Given the description of an element on the screen output the (x, y) to click on. 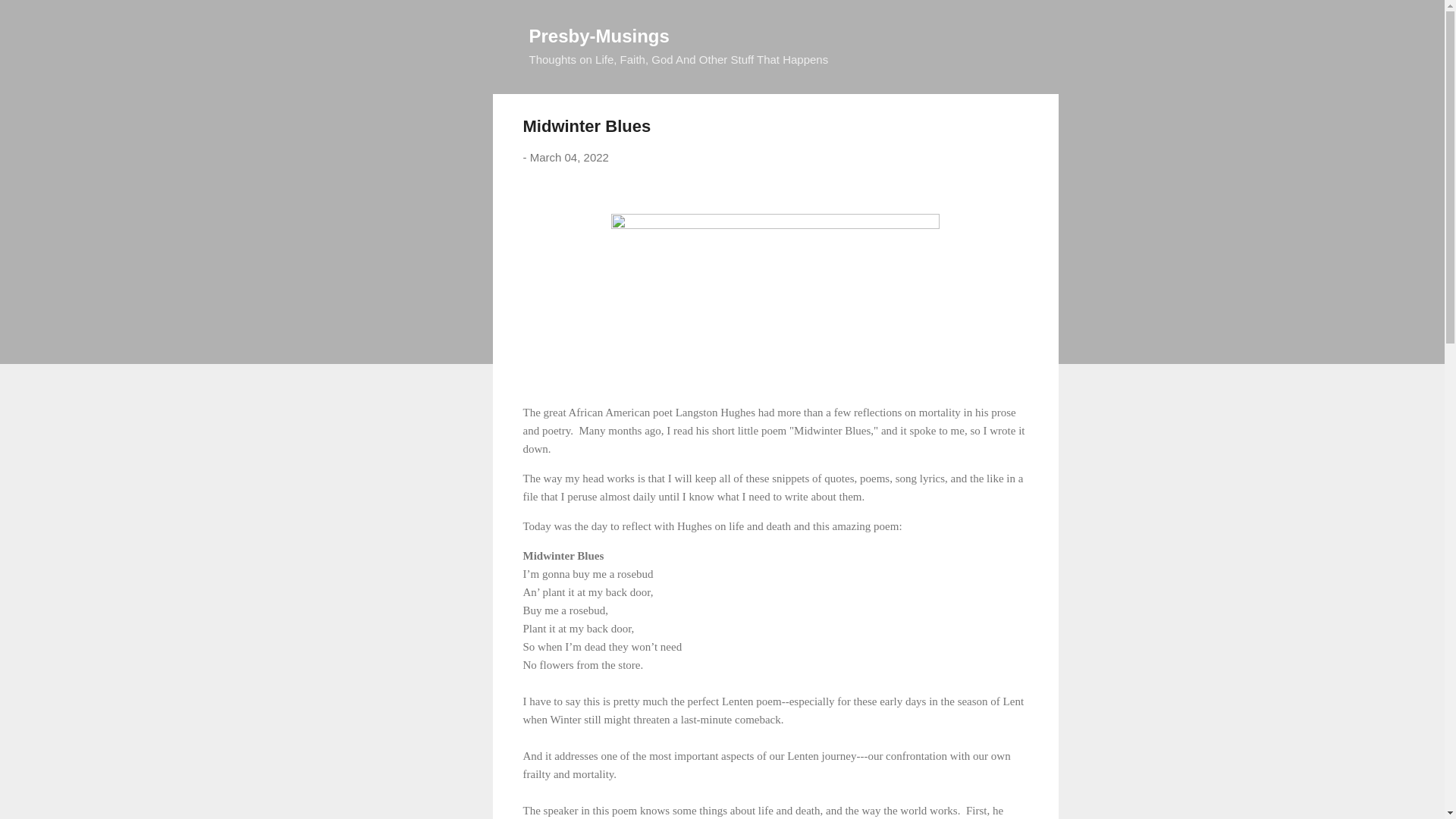
March 04, 2022 (568, 156)
permanent link (568, 156)
Presby-Musings (599, 35)
Search (29, 18)
